Given the description of an element on the screen output the (x, y) to click on. 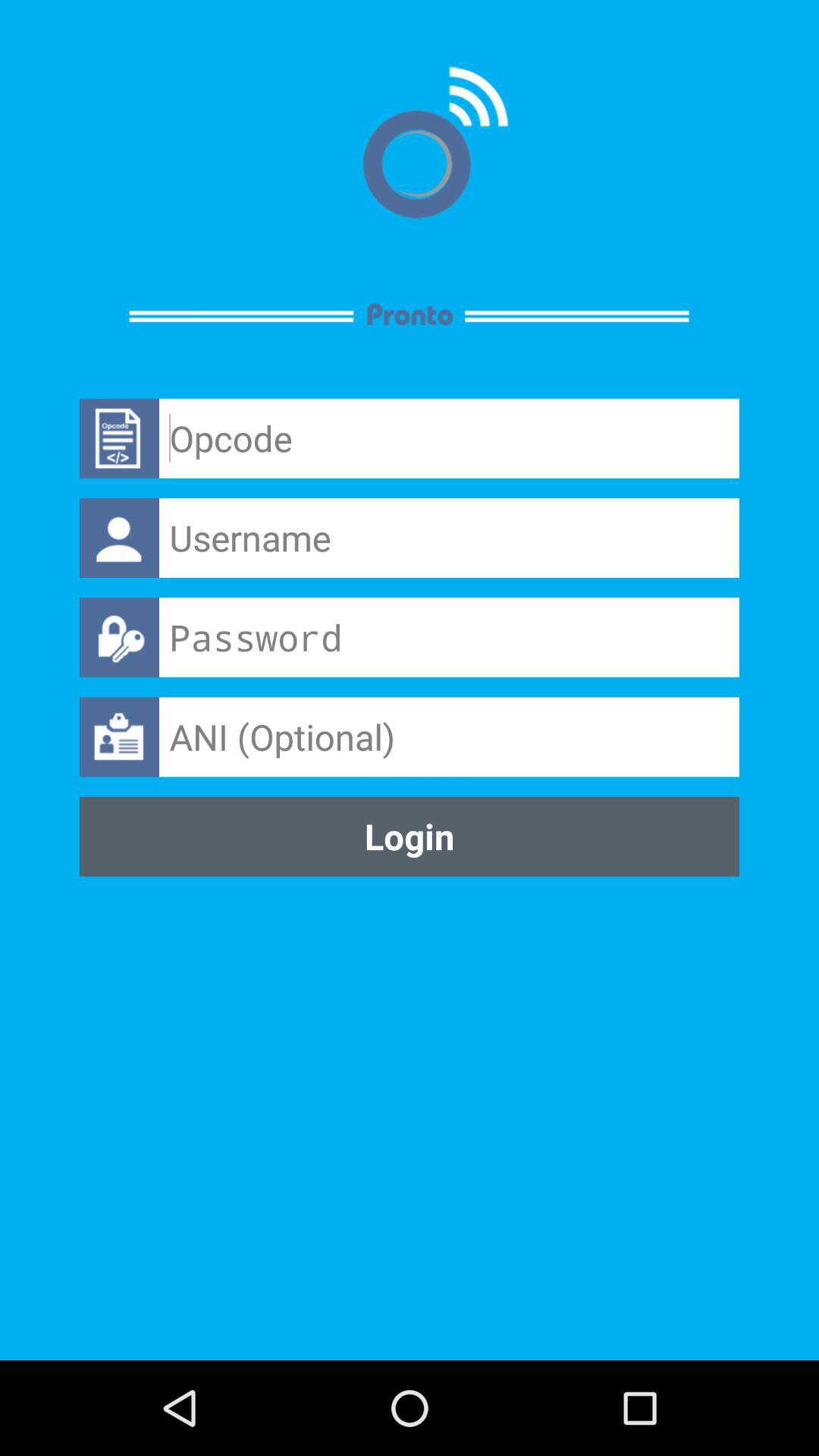
enter password (449, 637)
